Given the description of an element on the screen output the (x, y) to click on. 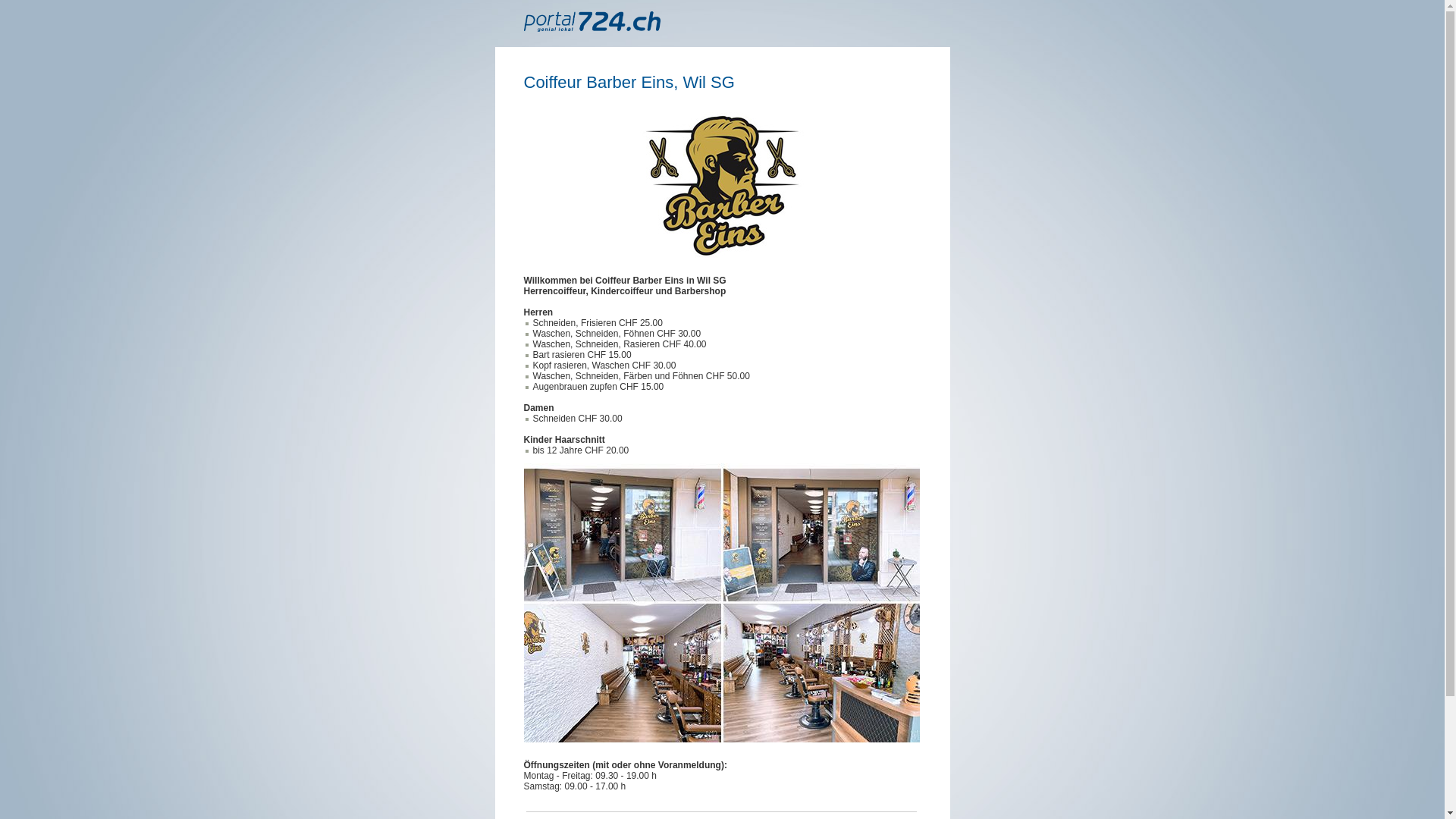
Picture02 Element type: hover (721, 606)
. Element type: hover (527, 322)
portal724.ch Element type: hover (591, 21)
. Element type: hover (527, 343)
. Element type: hover (527, 365)
. Element type: hover (527, 386)
Picture01 Element type: hover (722, 185)
. Element type: hover (527, 333)
. Element type: hover (527, 375)
. Element type: hover (527, 418)
. Element type: hover (527, 354)
. Element type: hover (527, 450)
